Given the description of an element on the screen output the (x, y) to click on. 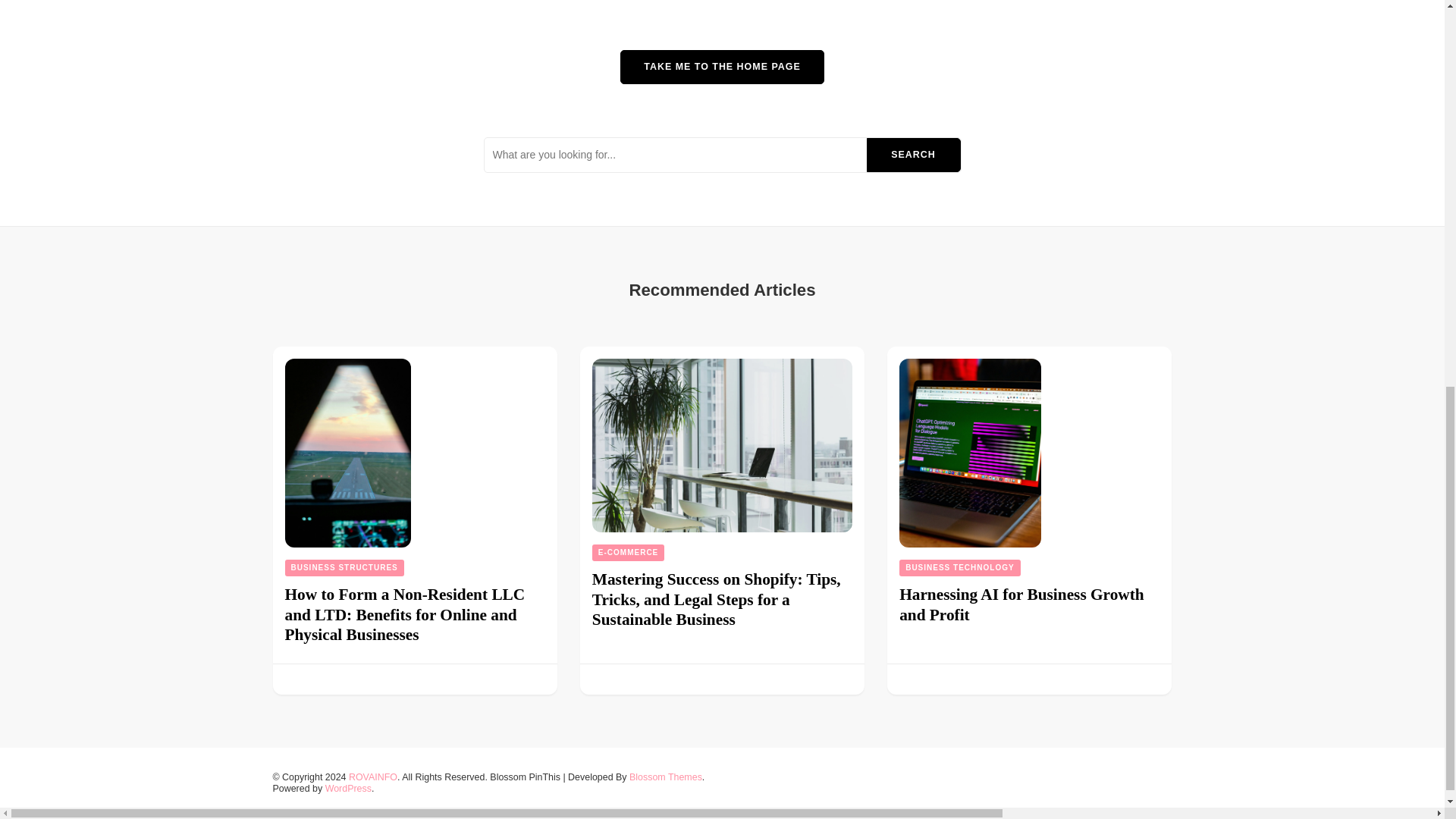
Harnessing AI for Business Growth and Profit (1021, 604)
TAKE ME TO THE HOME PAGE (722, 66)
E-COMMERCE (627, 552)
Search (912, 154)
WordPress (347, 787)
ROVAINFO (373, 777)
Blossom Themes (664, 777)
BUSINESS TECHNOLOGY (959, 567)
